Given the description of an element on the screen output the (x, y) to click on. 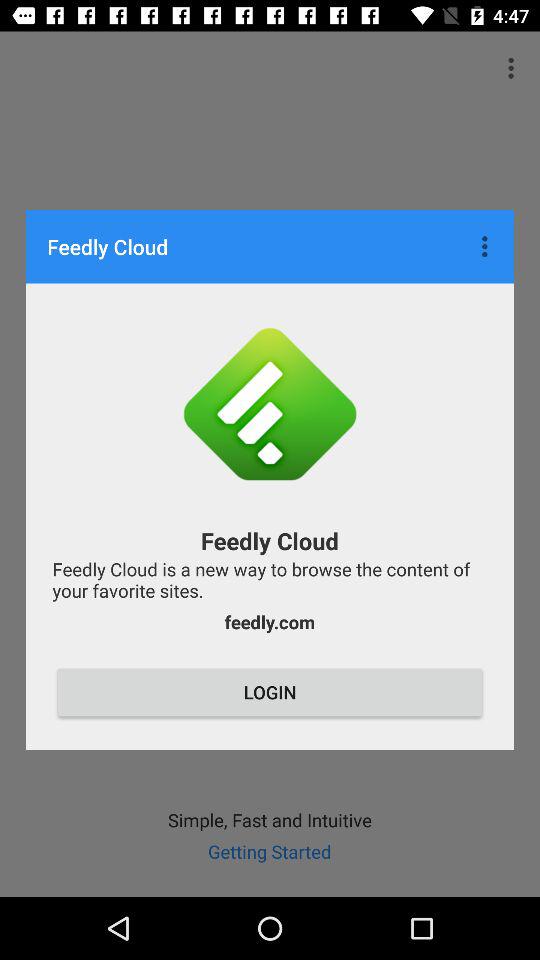
turn off app to the right of feedly cloud (487, 246)
